Given the description of an element on the screen output the (x, y) to click on. 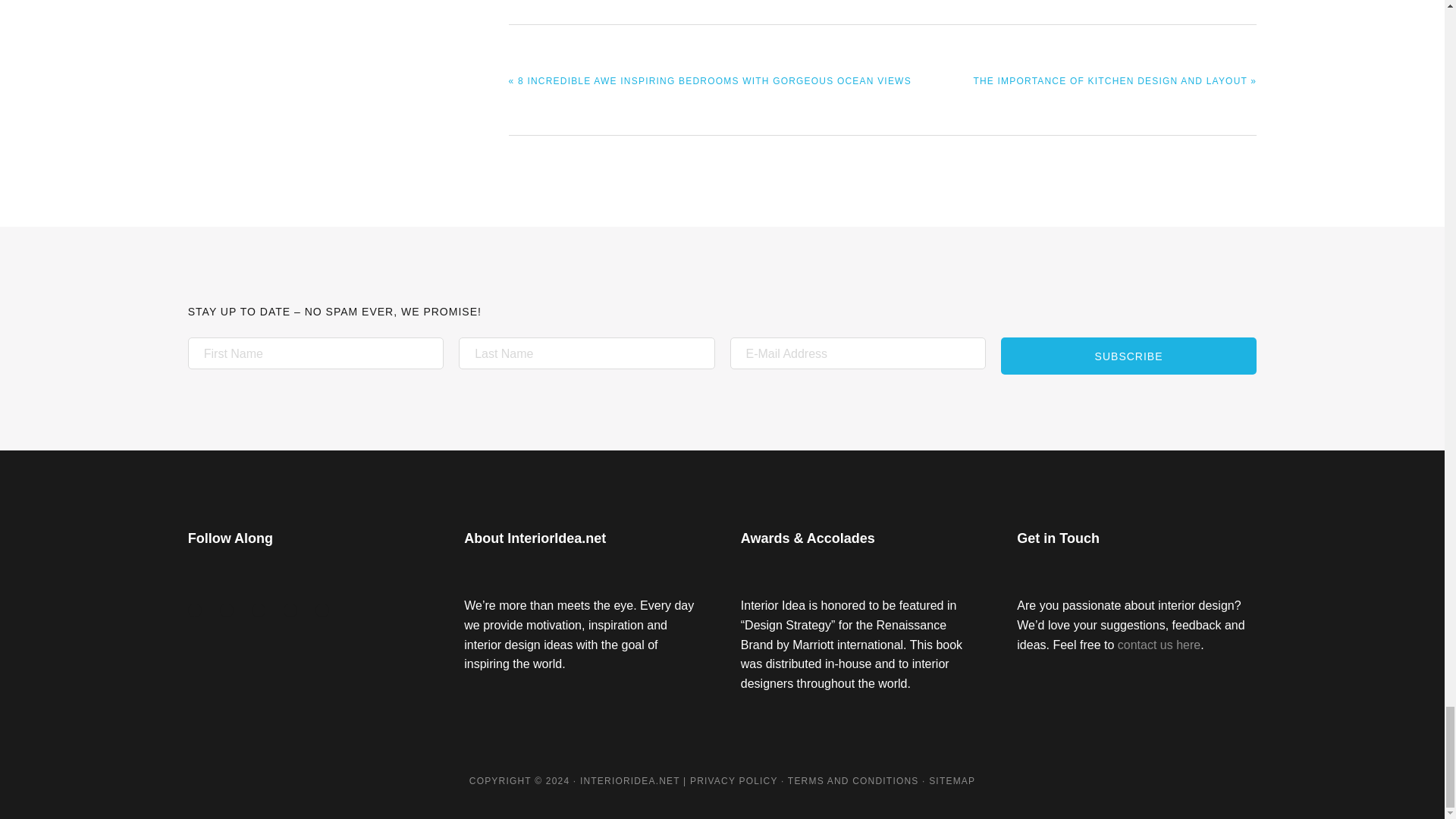
Subscribe (1128, 355)
